Given the description of an element on the screen output the (x, y) to click on. 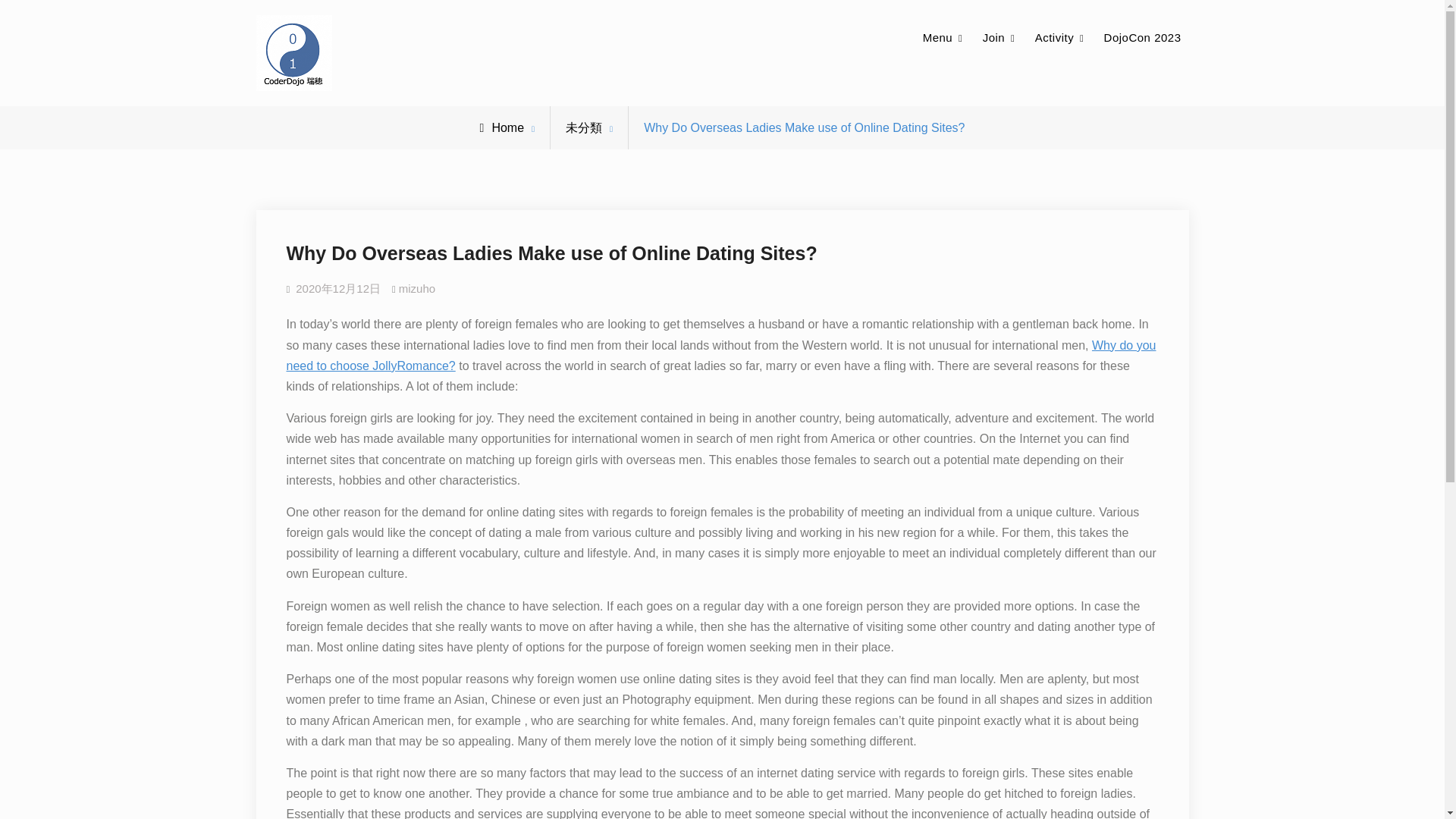
Join (1000, 37)
Home (502, 127)
Activity (1060, 37)
mizuho (416, 287)
Menu (943, 37)
Why do you need to choose JollyRomance? (721, 355)
DojoCon 2023 (1142, 37)
